Given the description of an element on the screen output the (x, y) to click on. 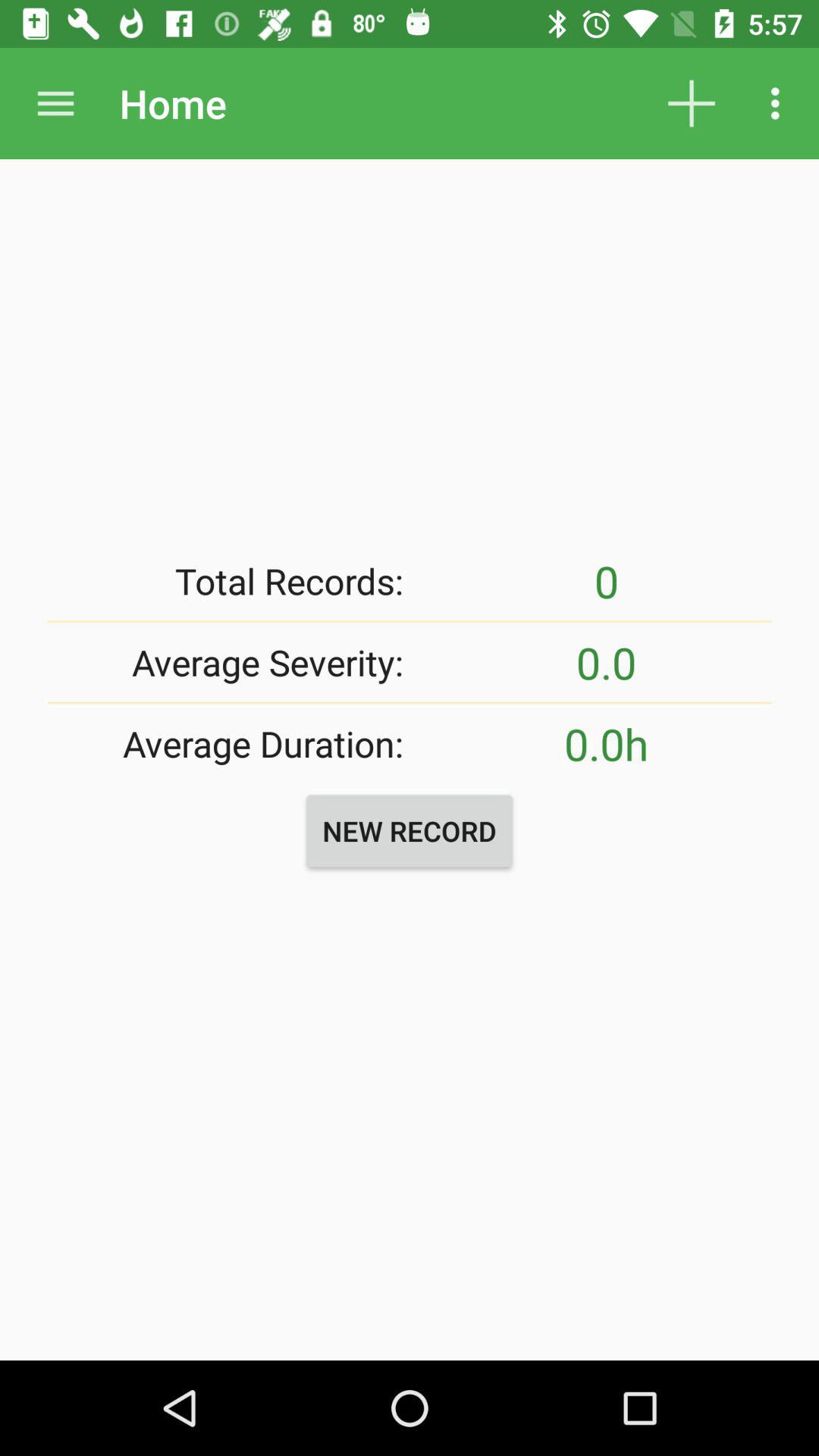
press the item above the 0 icon (779, 103)
